Given the description of an element on the screen output the (x, y) to click on. 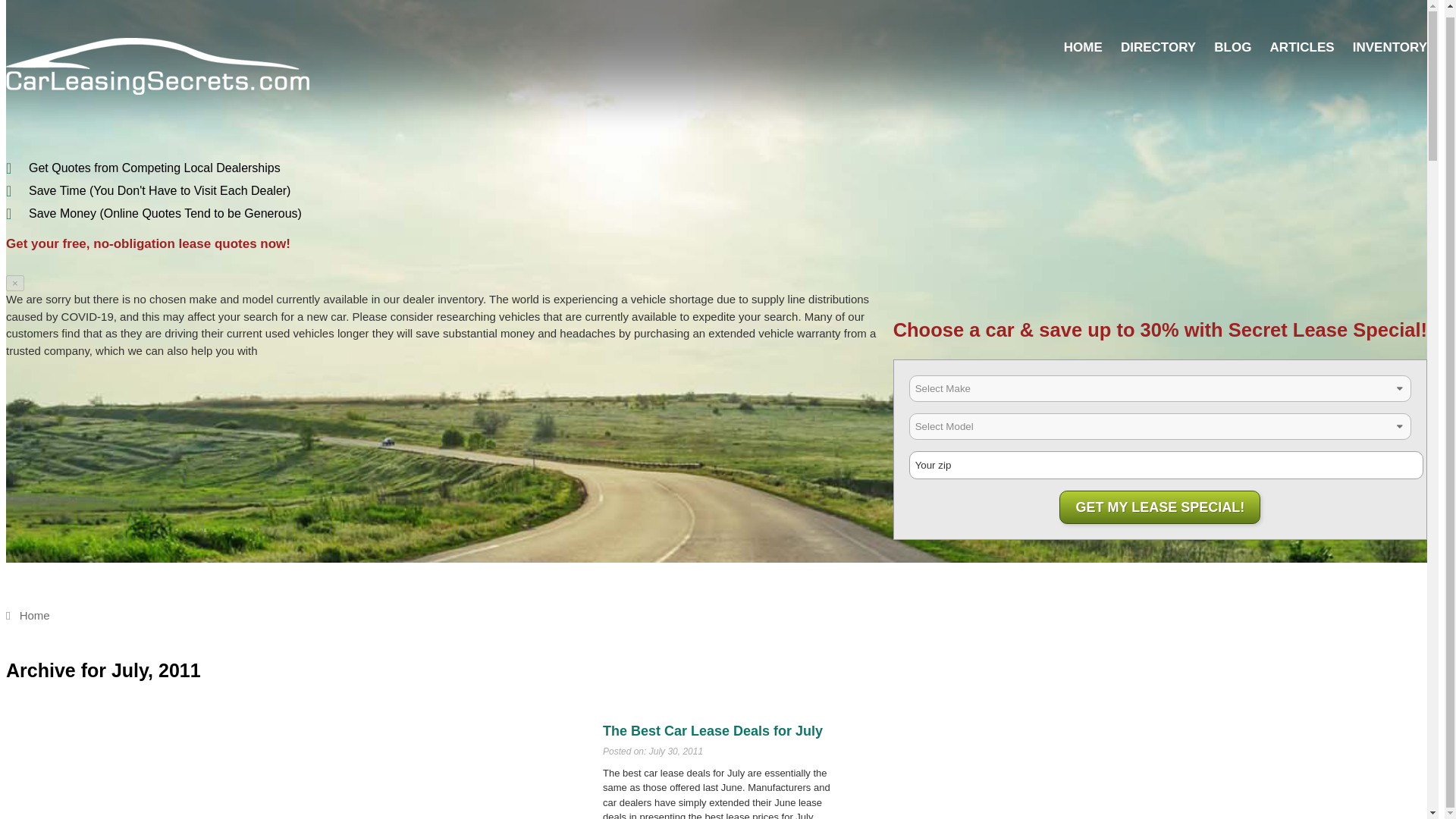
Permanent Link to The Best Car Lease Deals for July (712, 730)
Get your free, no-obligation lease quotes now! (147, 243)
Home (27, 615)
BLOG (1232, 47)
Get My Lease Special! (1159, 507)
HOME (1083, 47)
ARTICLES (1302, 47)
Get My Lease Special! (1159, 507)
DIRECTORY (1158, 47)
The Best Car Lease Deals for July (712, 730)
